Given the description of an element on the screen output the (x, y) to click on. 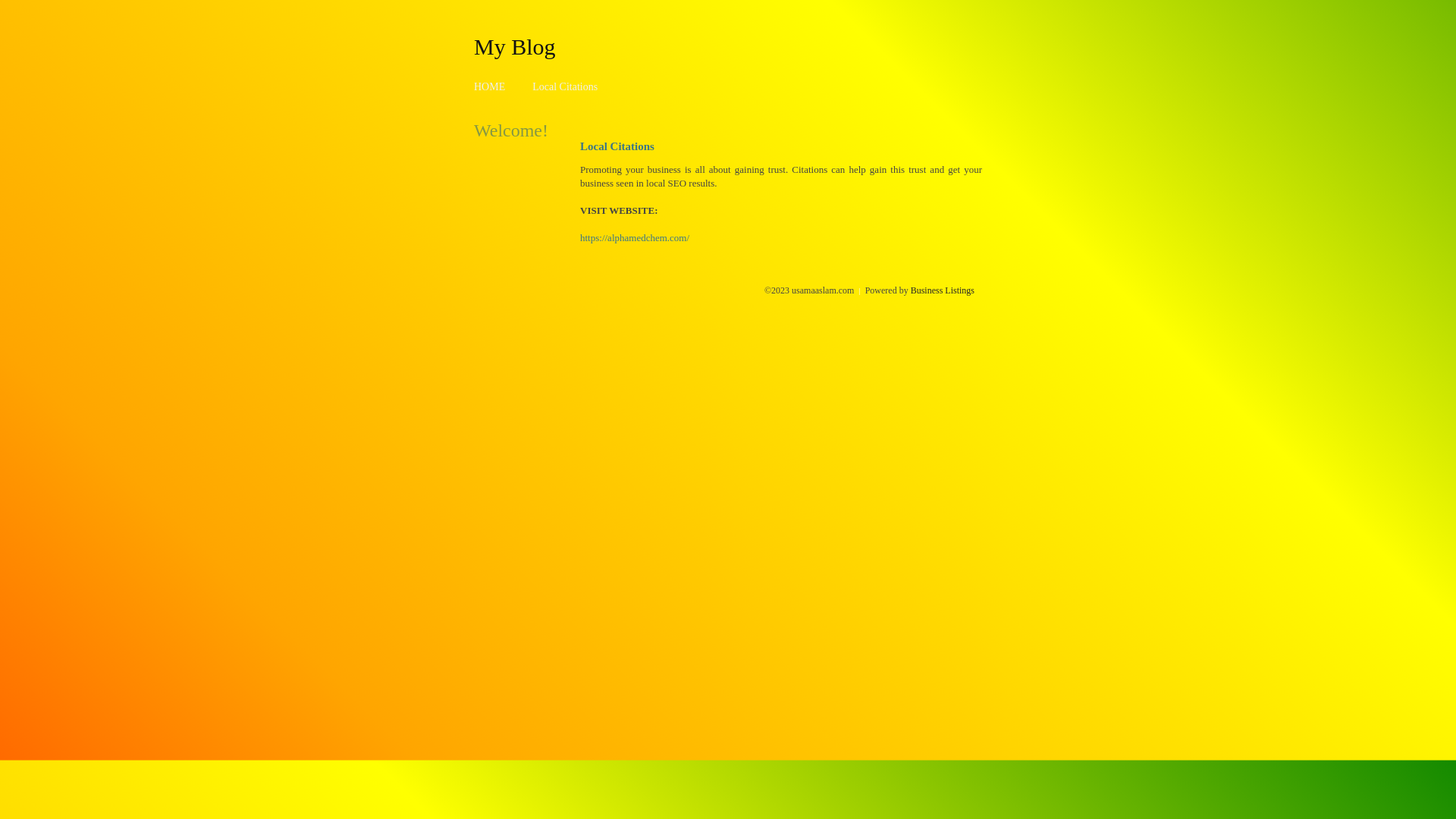
Local Citations Element type: text (564, 86)
HOME Element type: text (489, 86)
https://alphamedchem.com/ Element type: text (634, 237)
My Blog Element type: text (514, 46)
Business Listings Element type: text (942, 290)
